Given the description of an element on the screen output the (x, y) to click on. 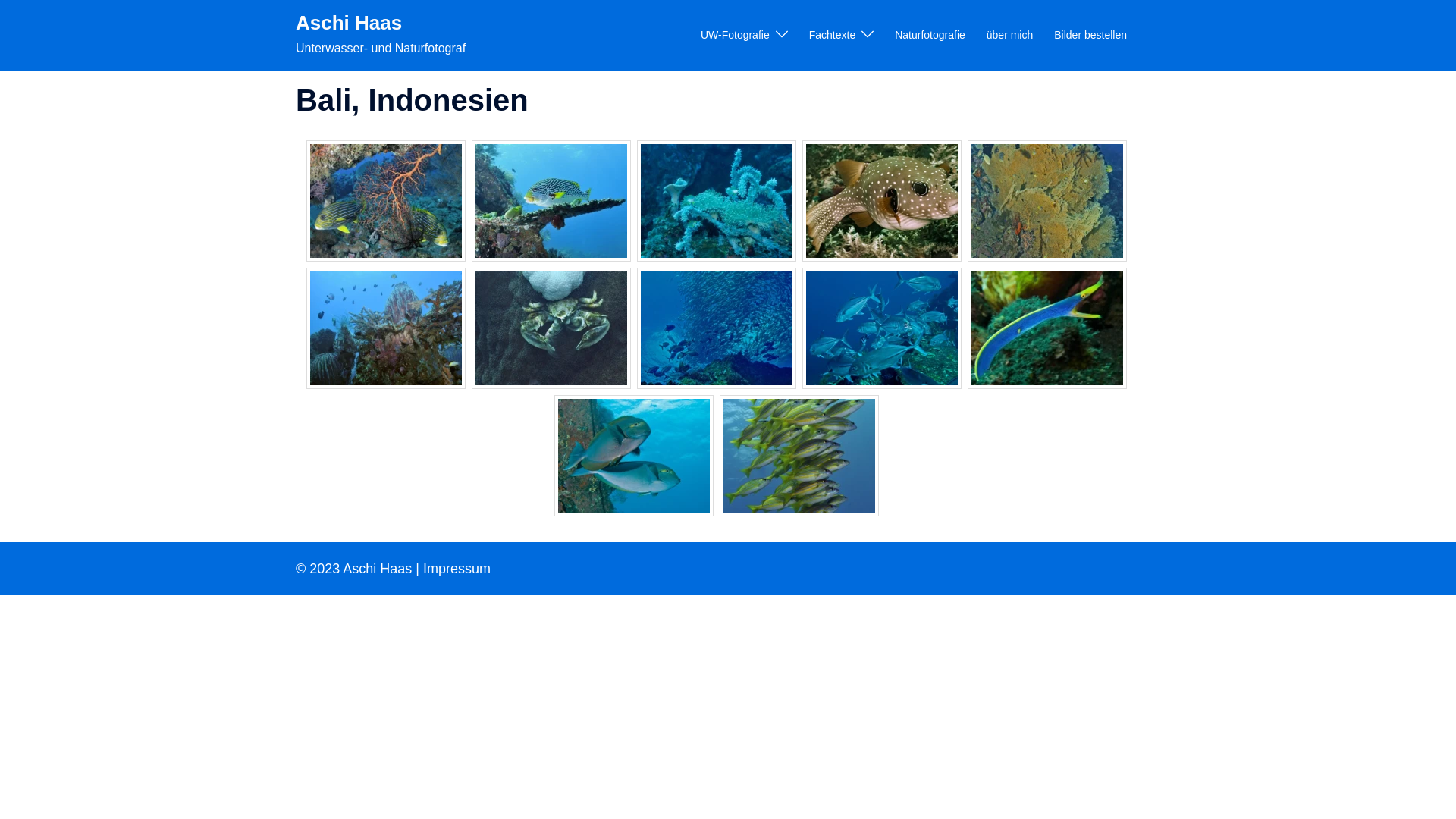
Fachtexte Element type: text (832, 35)
Blaustreifenschnapper Element type: hover (799, 455)
Impressum Element type: text (456, 568)
Makrelenschwarm Element type: hover (716, 328)
Aschi Haas Element type: text (348, 22)
UW-Fotografie Element type: text (734, 35)
Kugelfisch Element type: hover (881, 200)
Korallen Element type: hover (716, 200)
Naturfotografie Element type: text (929, 35)
Doktorfische Element type: hover (633, 455)
Korallenstock Element type: hover (385, 328)
Bilder bestellen Element type: text (1090, 35)
Makrelen Element type: hover (881, 328)
Krebs Element type: hover (551, 328)
